Given the description of an element on the screen output the (x, y) to click on. 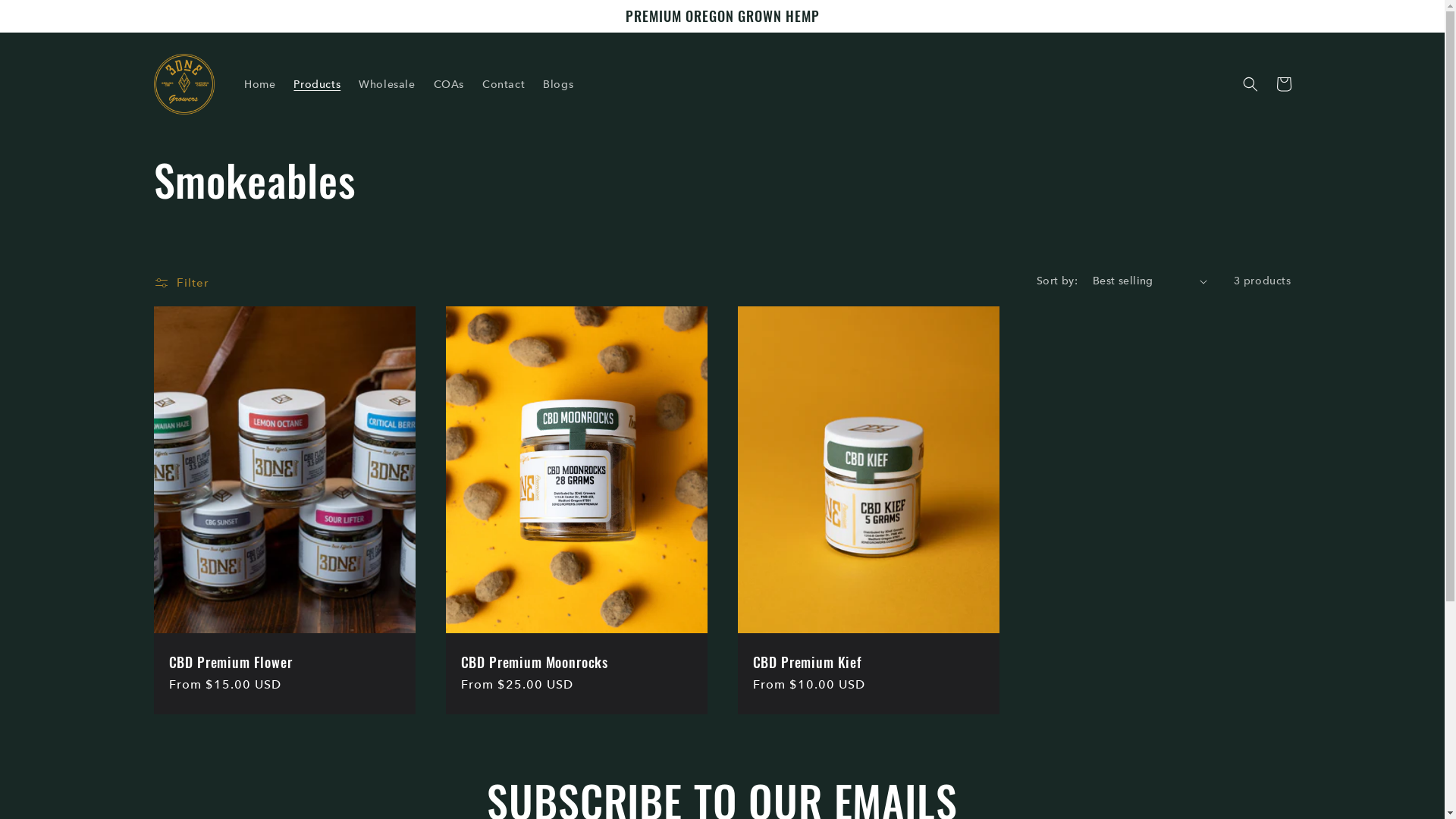
Blogs Element type: text (557, 84)
CBD Premium Flower Element type: text (283, 661)
Products Element type: text (316, 84)
CBD Premium Kief Element type: text (867, 661)
Wholesale Element type: text (386, 84)
CBD Premium Moonrocks Element type: text (576, 661)
Contact Element type: text (503, 84)
COAs Element type: text (448, 84)
Home Element type: text (259, 84)
Cart Element type: text (1282, 83)
